Given the description of an element on the screen output the (x, y) to click on. 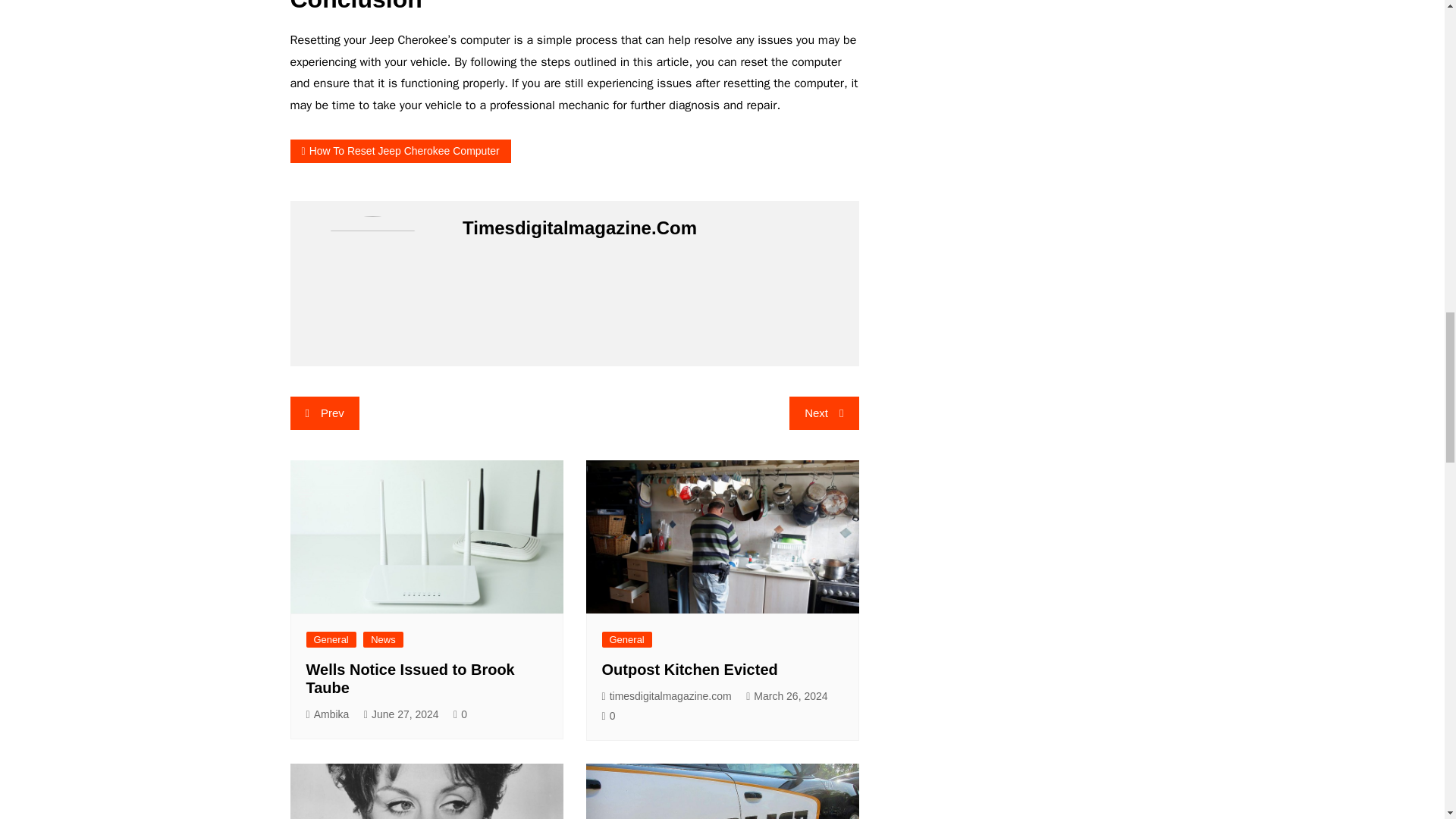
Prev (323, 412)
timesdigitalmagazine.com (667, 696)
March 26, 2024 (786, 696)
How To Reset Jeep Cherokee Computer (400, 150)
General (330, 639)
Ambika (327, 714)
News (382, 639)
0 (608, 715)
Next (824, 412)
Outpost Kitchen Evicted (689, 669)
Wells Notice Issued to Brook Taube (410, 678)
June 27, 2024 (401, 714)
0 (459, 714)
General (627, 639)
